Given the description of an element on the screen output the (x, y) to click on. 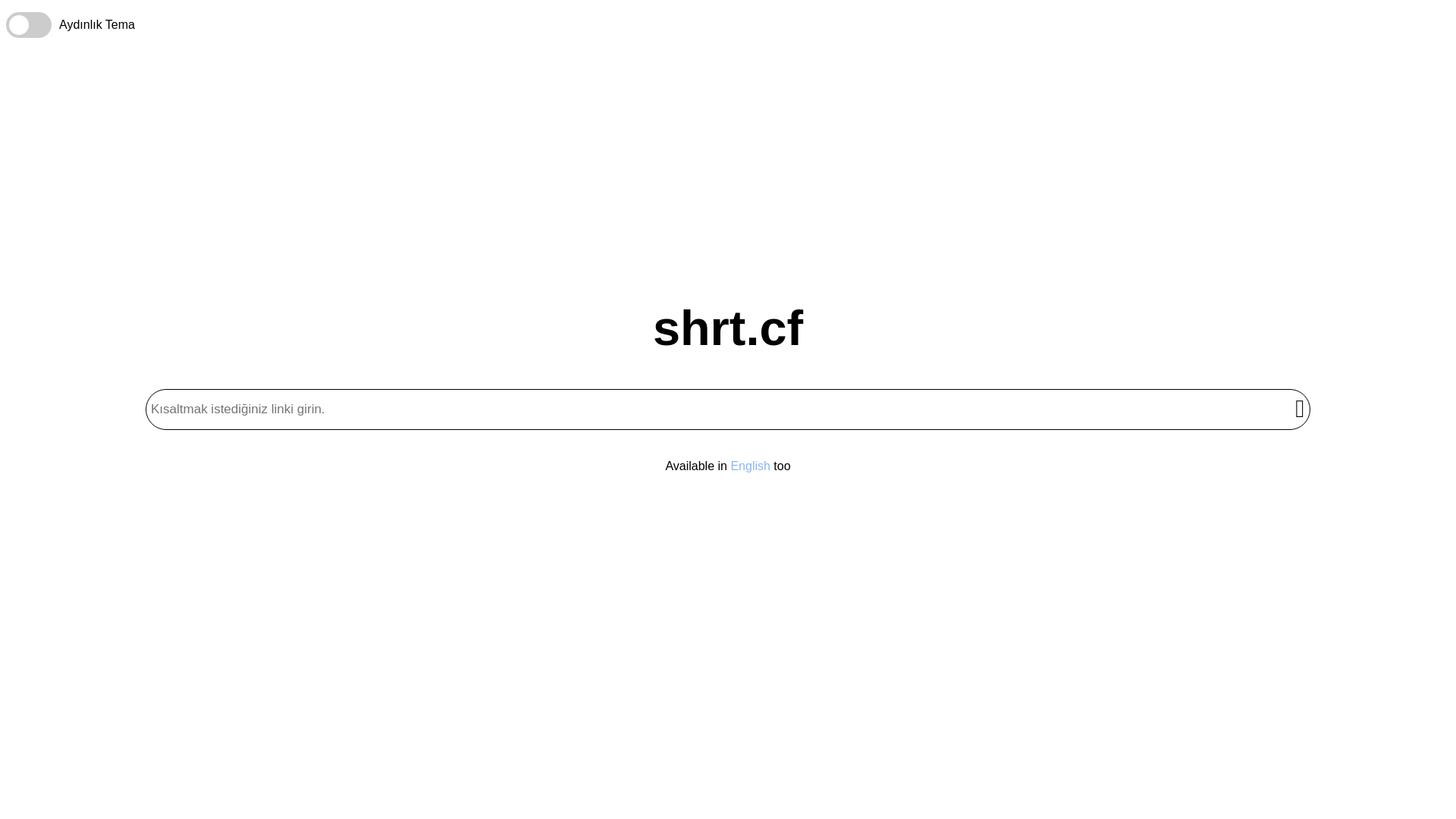
English Element type: text (749, 465)
